Given the description of an element on the screen output the (x, y) to click on. 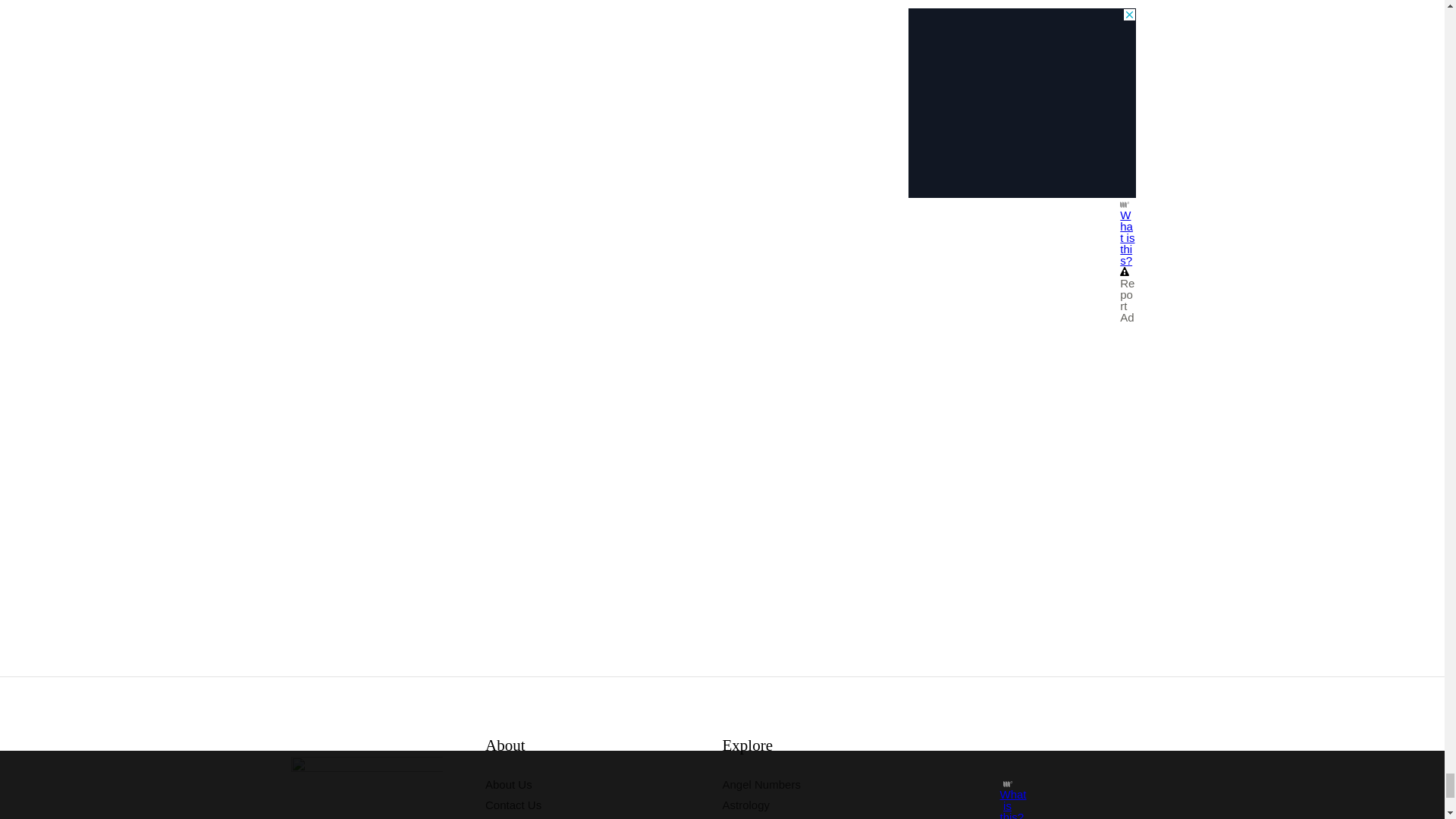
Contact Us (512, 804)
About Us (508, 784)
